Given the description of an element on the screen output the (x, y) to click on. 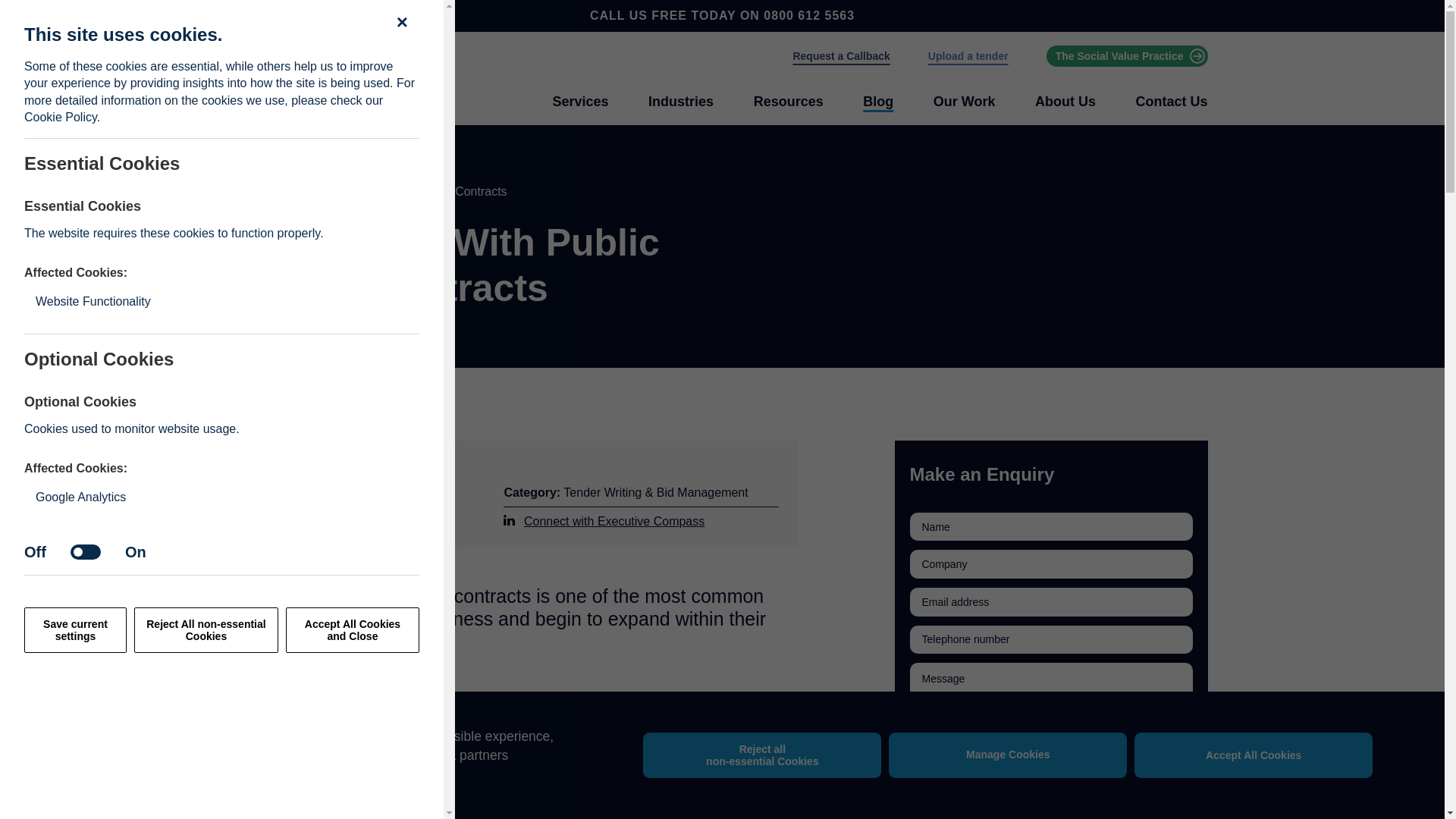
Call us now on 0800 612 5563 (808, 15)
Request a Callback (840, 55)
Request a callback today (840, 55)
Find out more about The Social Value Practice (1127, 55)
The Social Value Practice (1127, 55)
Services (579, 101)
Industries (680, 101)
Upload a tender (968, 55)
Return to the Executive Compass homepage (311, 79)
0800 612 5563 (808, 15)
